Given the description of an element on the screen output the (x, y) to click on. 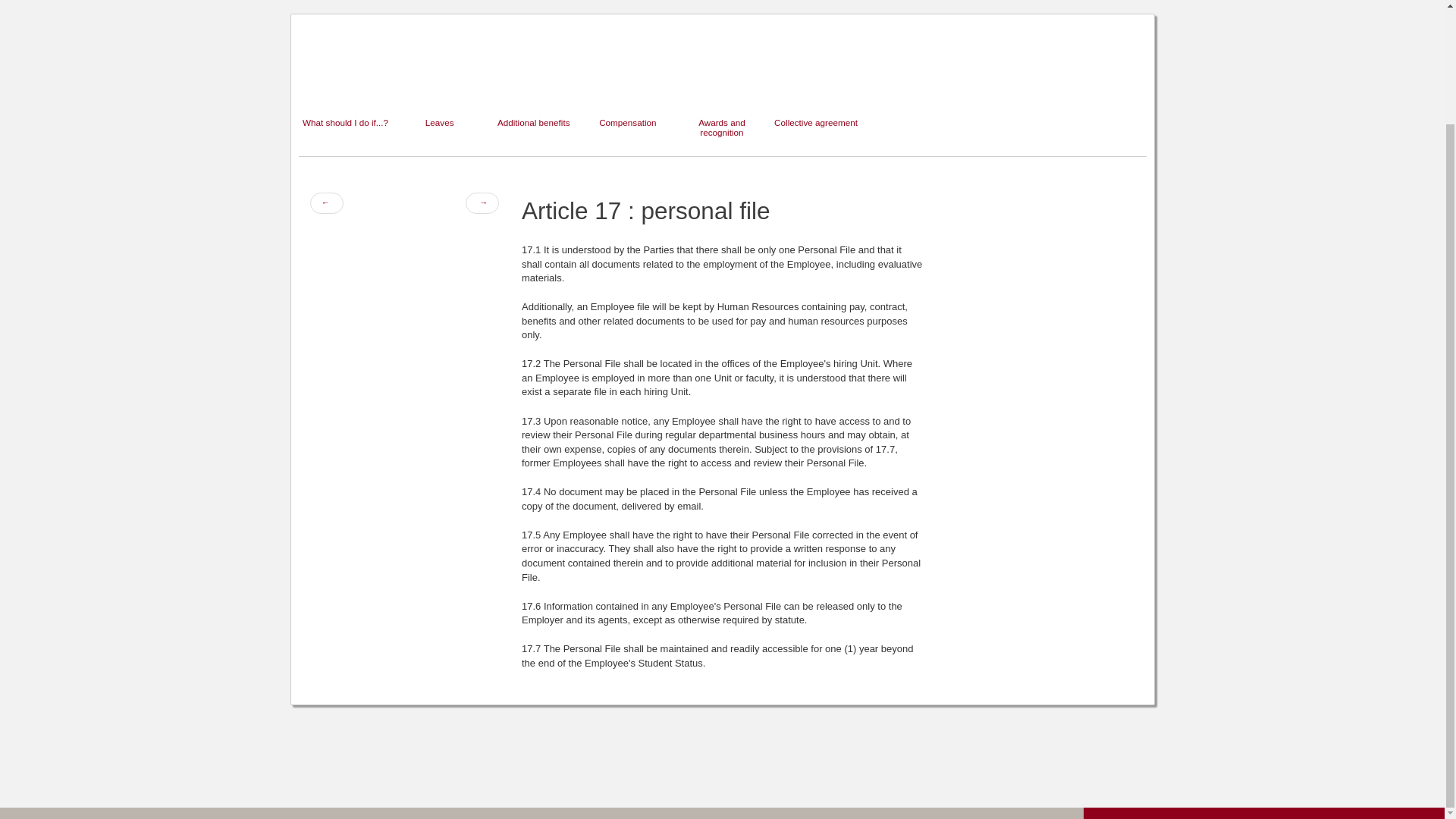
What should I do if...? (345, 79)
Leaves (439, 79)
 Article 16 : evaluation (325, 202)
Compensation (627, 79)
 Article 18 : job postings and appointments (482, 202)
Awards and recognition (721, 79)
  Collective agreement   (815, 79)
  Compensation   (627, 79)
What should I do if...? (345, 79)
Additional benefits (533, 79)
